Given the description of an element on the screen output the (x, y) to click on. 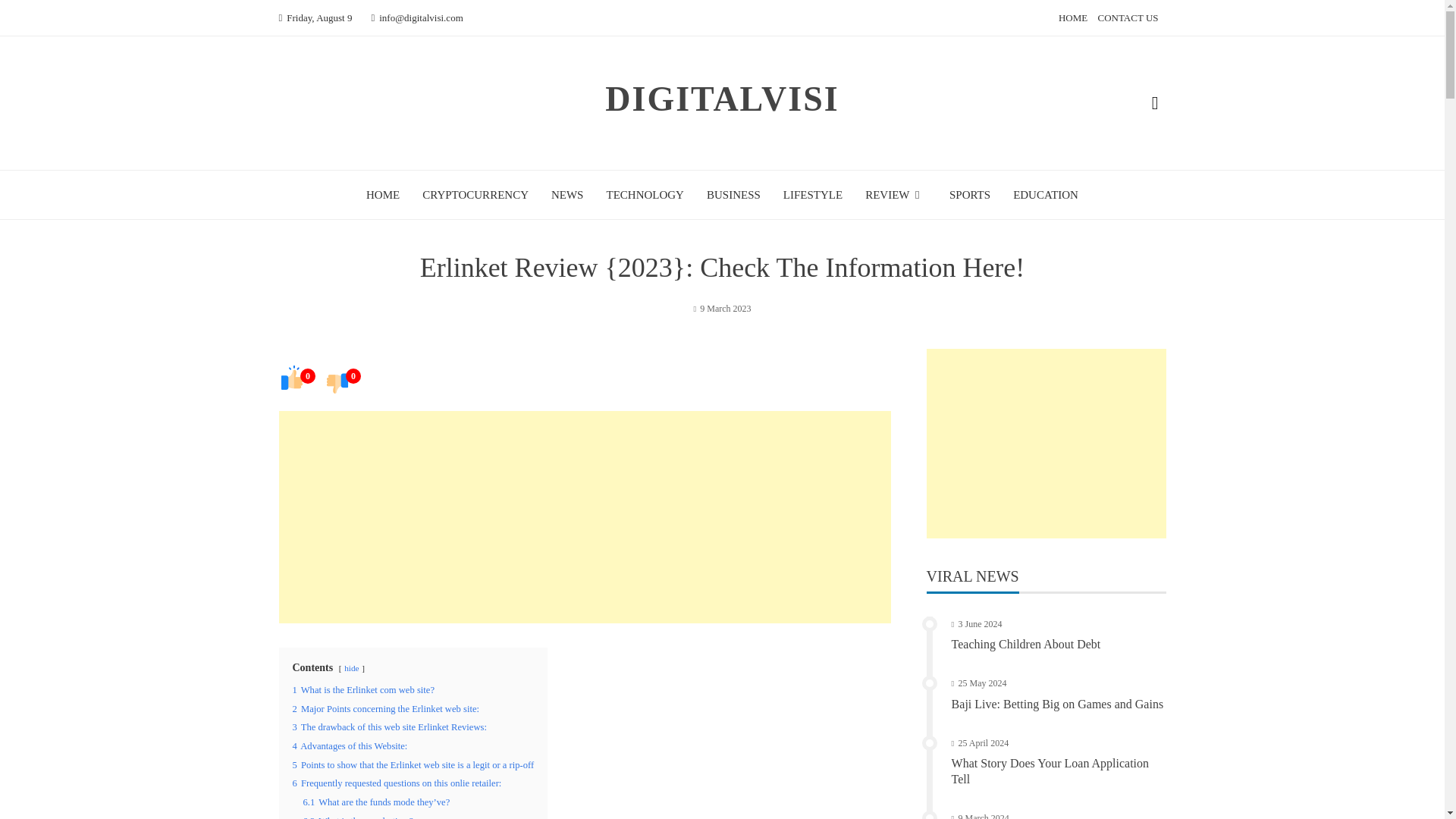
CRYPTOCURRENCY (475, 194)
NEWS (567, 194)
6 Frequently requested questions on this onlie retailer: (397, 783)
4 Advantages of this Website: (349, 746)
LIFESTYLE (813, 194)
HOME (382, 194)
2 Major Points concerning the Erlinket web site: (386, 708)
BUSINESS (733, 194)
REVIEW (895, 194)
HOME (1072, 17)
